Given the description of an element on the screen output the (x, y) to click on. 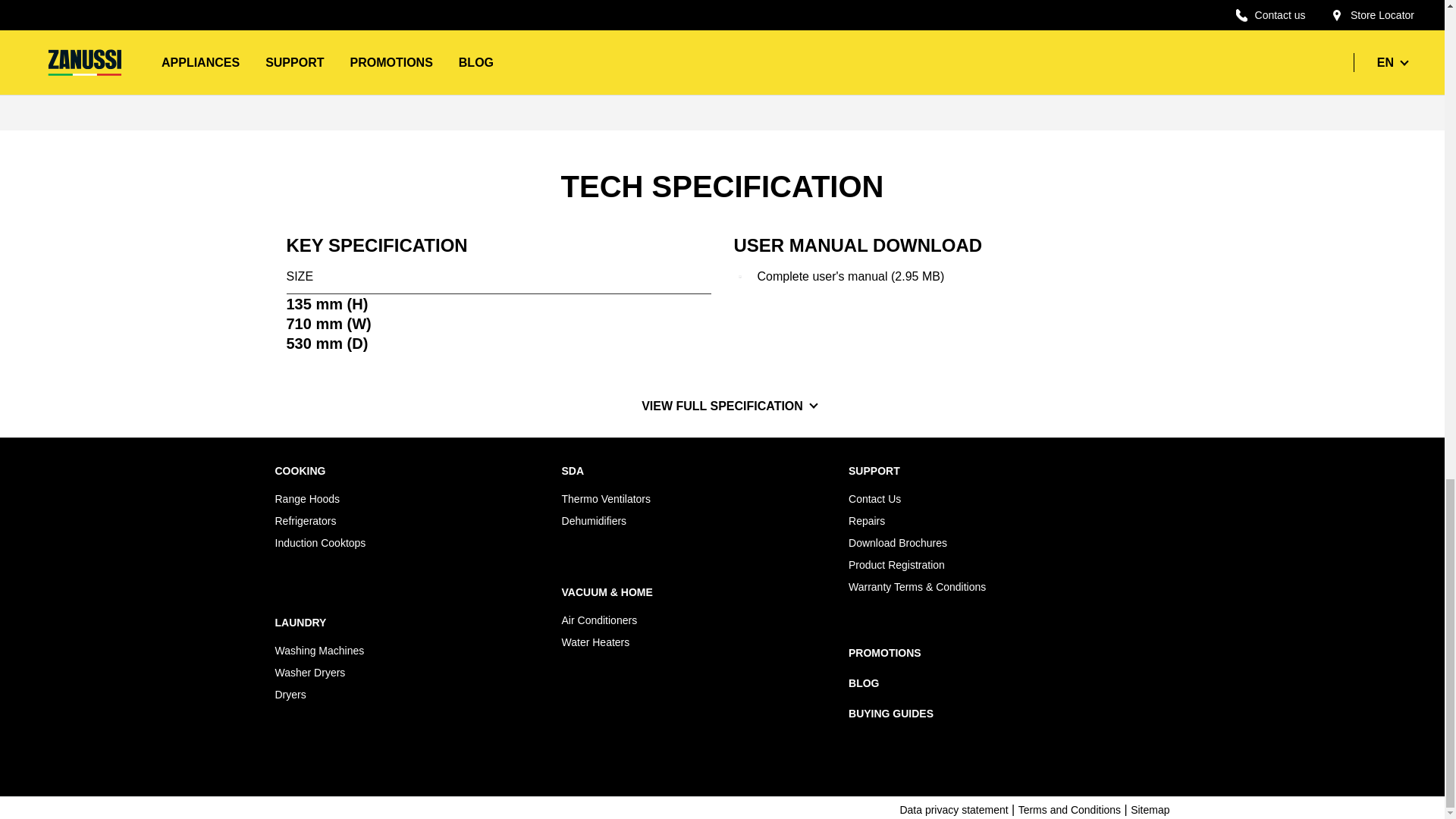
Sitemap (1150, 810)
Data privacy statement (953, 810)
Terms and Conditions (1069, 810)
